Given the description of an element on the screen output the (x, y) to click on. 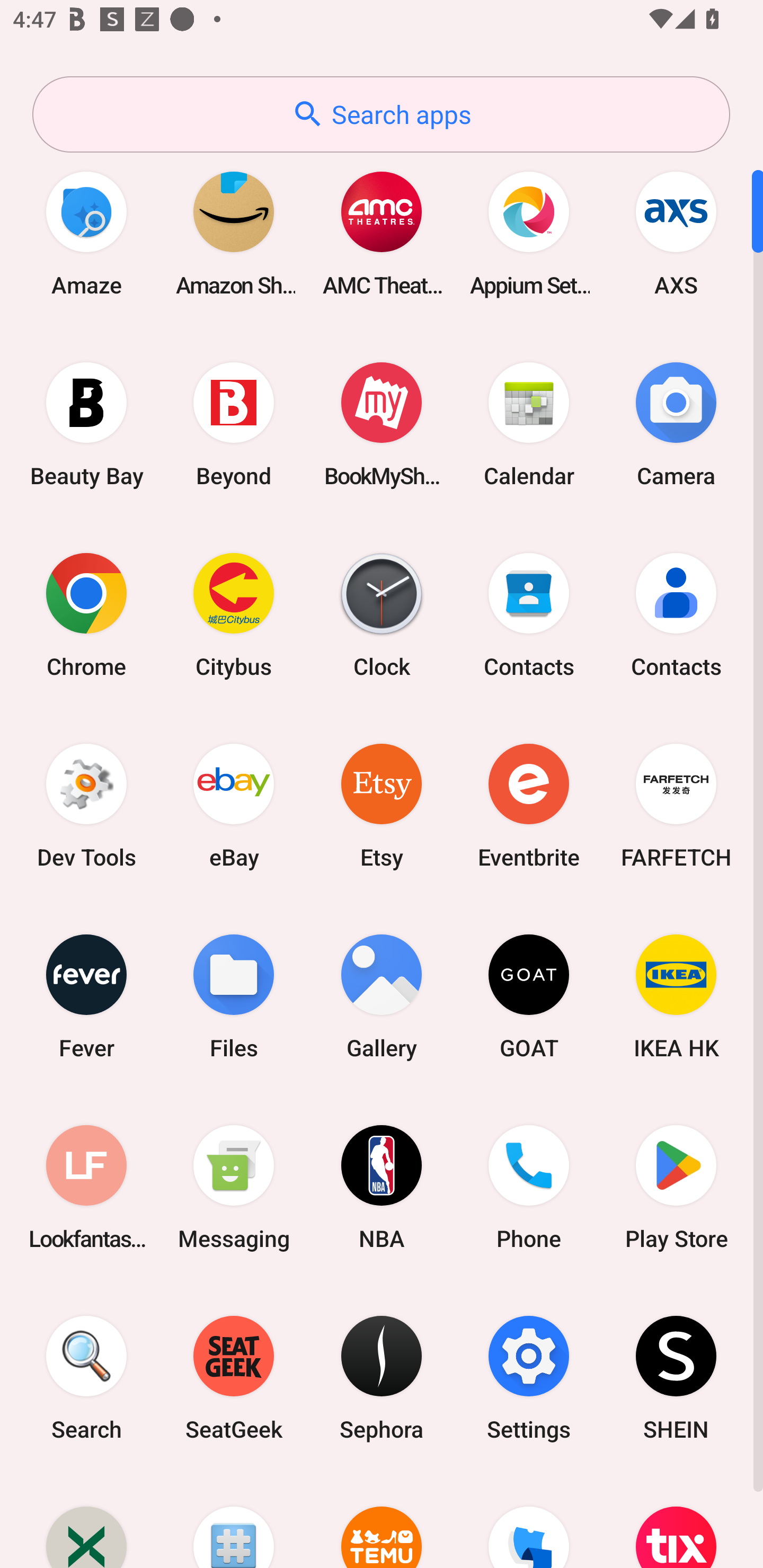
  Search apps (381, 114)
Amaze (86, 233)
Amazon Shopping (233, 233)
AMC Theatres (381, 233)
Appium Settings (528, 233)
AXS (676, 233)
Beauty Bay (86, 424)
Beyond (233, 424)
BookMyShow (381, 424)
Calendar (528, 424)
Camera (676, 424)
Chrome (86, 614)
Citybus (233, 614)
Clock (381, 614)
Contacts (528, 614)
Contacts (676, 614)
Dev Tools (86, 805)
eBay (233, 805)
Etsy (381, 805)
Eventbrite (528, 805)
FARFETCH (676, 805)
Fever (86, 996)
Files (233, 996)
Gallery (381, 996)
GOAT (528, 996)
IKEA HK (676, 996)
Lookfantastic (86, 1186)
Messaging (233, 1186)
NBA (381, 1186)
Phone (528, 1186)
Play Store (676, 1186)
Search (86, 1377)
SeatGeek (233, 1377)
Sephora (381, 1377)
Settings (528, 1377)
SHEIN (676, 1377)
StockX (86, 1520)
Superuser (233, 1520)
Temu (381, 1520)
TickPick (528, 1520)
TodayTix (676, 1520)
